Given the description of an element on the screen output the (x, y) to click on. 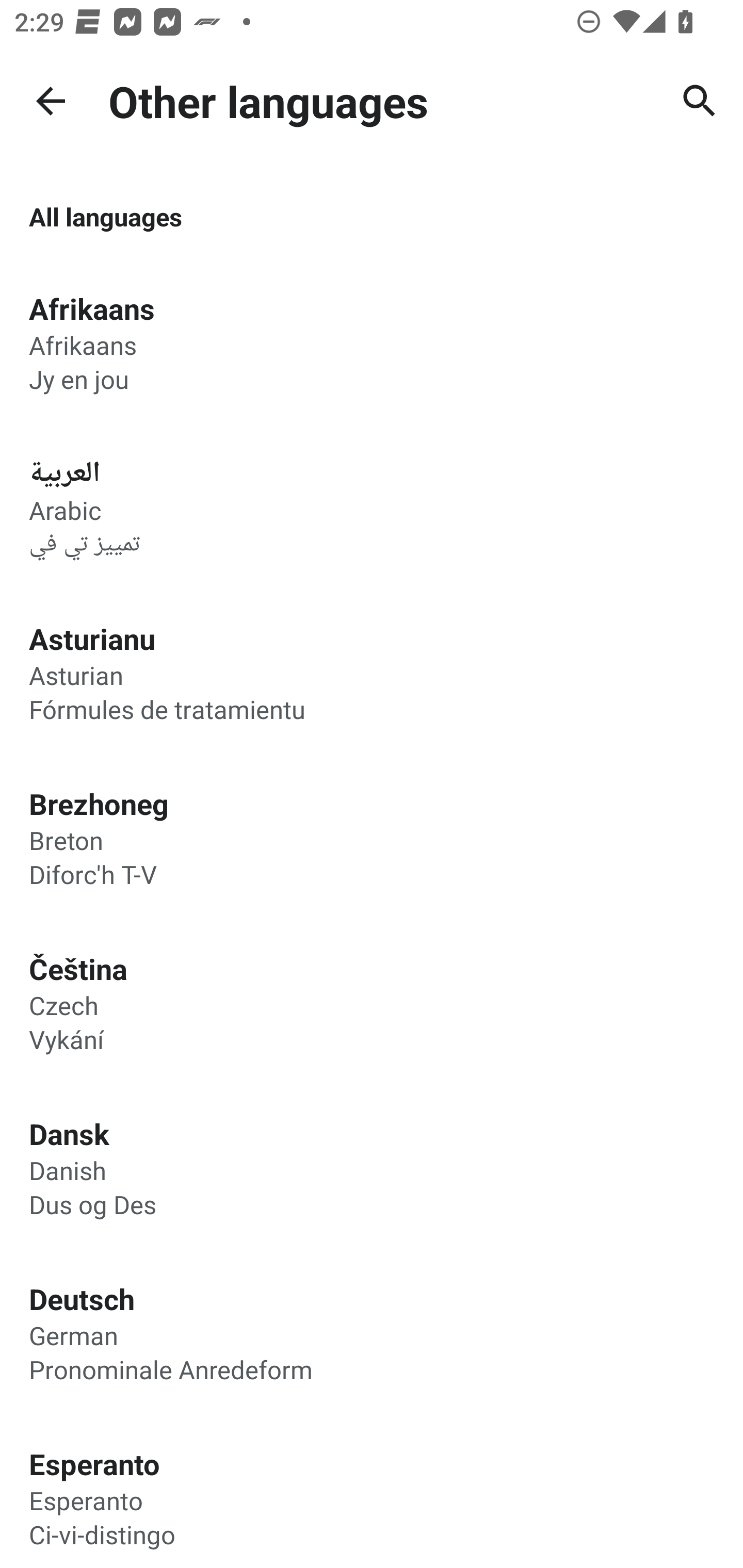
Navigate up (50, 101)
Search for a language (699, 101)
Afrikaans Afrikaans Jy en jou (371, 342)
العربية Arabic تمييز تي في (371, 506)
Asturianu Asturian Fórmules de tratamientu (371, 672)
Brezhoneg Breton Diforc'h T-V (371, 837)
Čeština Czech Vykání (371, 1002)
Dansk Danish Dus og Des (371, 1167)
Deutsch German Pronominale Anredeform (371, 1332)
Esperanto Esperanto Ci-vi-distingo (371, 1491)
